Given the description of an element on the screen output the (x, y) to click on. 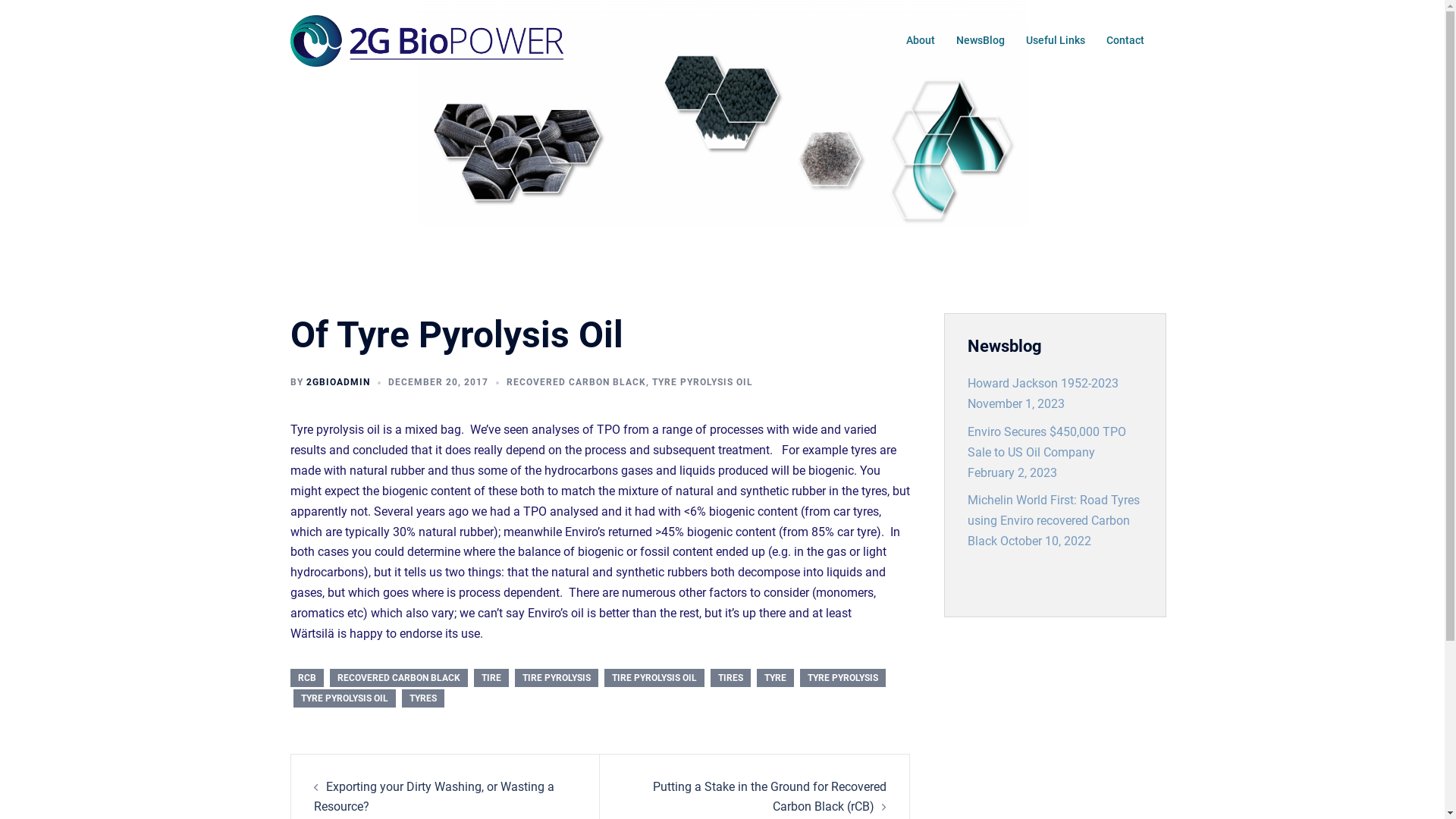
TYRE Element type: text (774, 677)
Skip to content Element type: text (0, 0)
RCB Element type: text (306, 677)
2GBIOADMIN Element type: text (338, 381)
Howard Jackson 1952-2023 Element type: text (1042, 383)
TYRE PYROLYSIS OIL Element type: text (343, 698)
Contact Element type: text (1124, 40)
TYRE PYROLYSIS Element type: text (841, 677)
TIRE PYROLYSIS OIL Element type: text (653, 677)
TIRE Element type: text (490, 677)
DECEMBER 20, 2017 Element type: text (438, 381)
Tyre Pyrolysis Element type: hover (425, 39)
TYRES Element type: text (422, 698)
TIRES Element type: text (729, 677)
RECOVERED CARBON BLACK Element type: text (576, 381)
NewsBlog Element type: text (979, 40)
TIRE PYROLYSIS Element type: text (555, 677)
Enviro Secures $450,000 TPO Sale to US Oil Company Element type: text (1046, 441)
TYRE PYROLYSIS OIL Element type: text (702, 381)
RECOVERED CARBON BLACK Element type: text (398, 677)
Useful Links Element type: text (1054, 40)
Exporting your Dirty Washing, or Wasting a Resource? Element type: text (433, 796)
About Element type: text (919, 40)
